Given the description of an element on the screen output the (x, y) to click on. 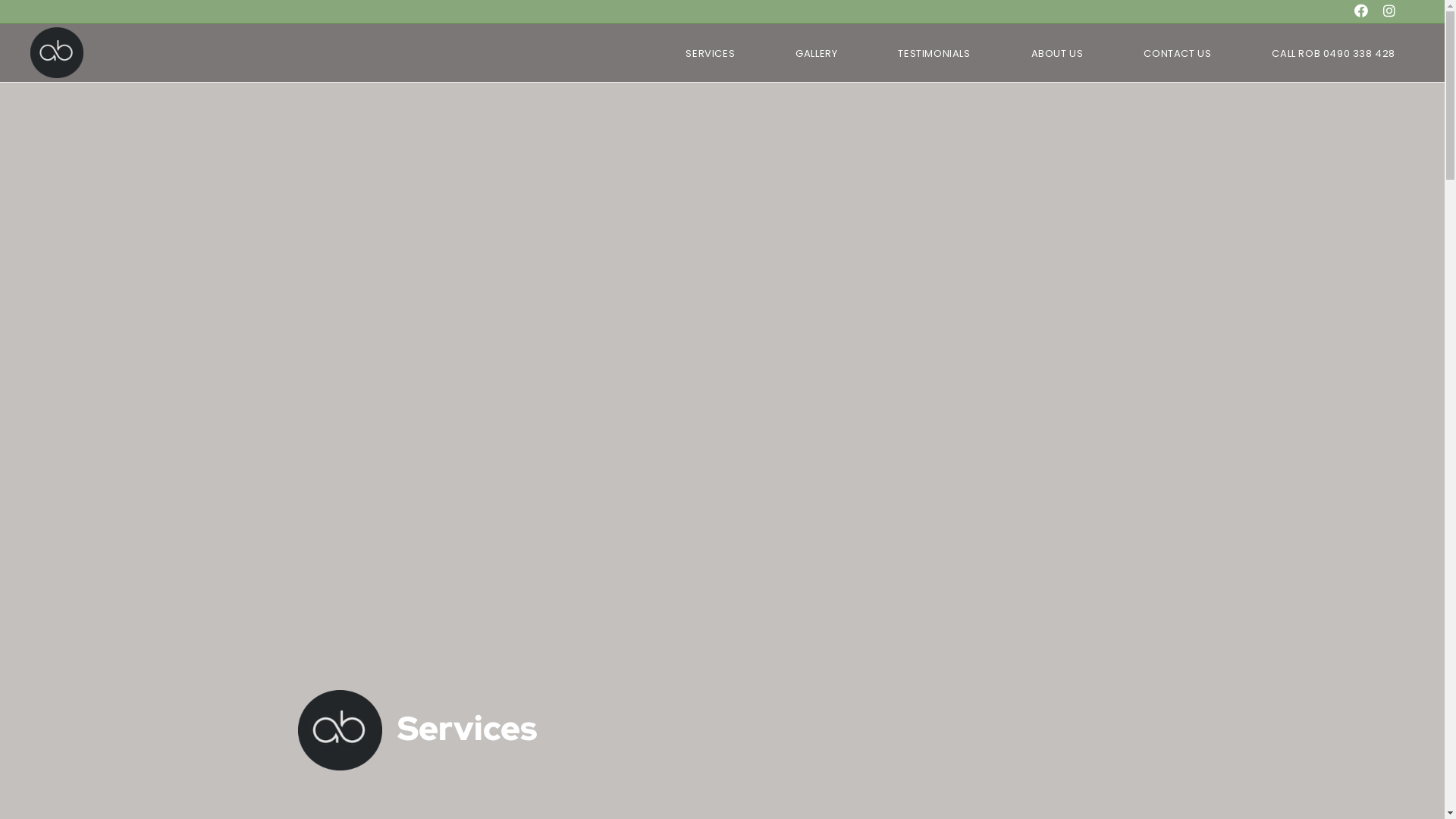
SERVICES Element type: text (710, 53)
ABOUT US Element type: text (1057, 53)
GALLERY Element type: text (816, 53)
CALL ROB 0490 338 428 Element type: text (1333, 53)
CONTACT US Element type: text (1177, 53)
TESTIMONIALS Element type: text (933, 53)
